Given the description of an element on the screen output the (x, y) to click on. 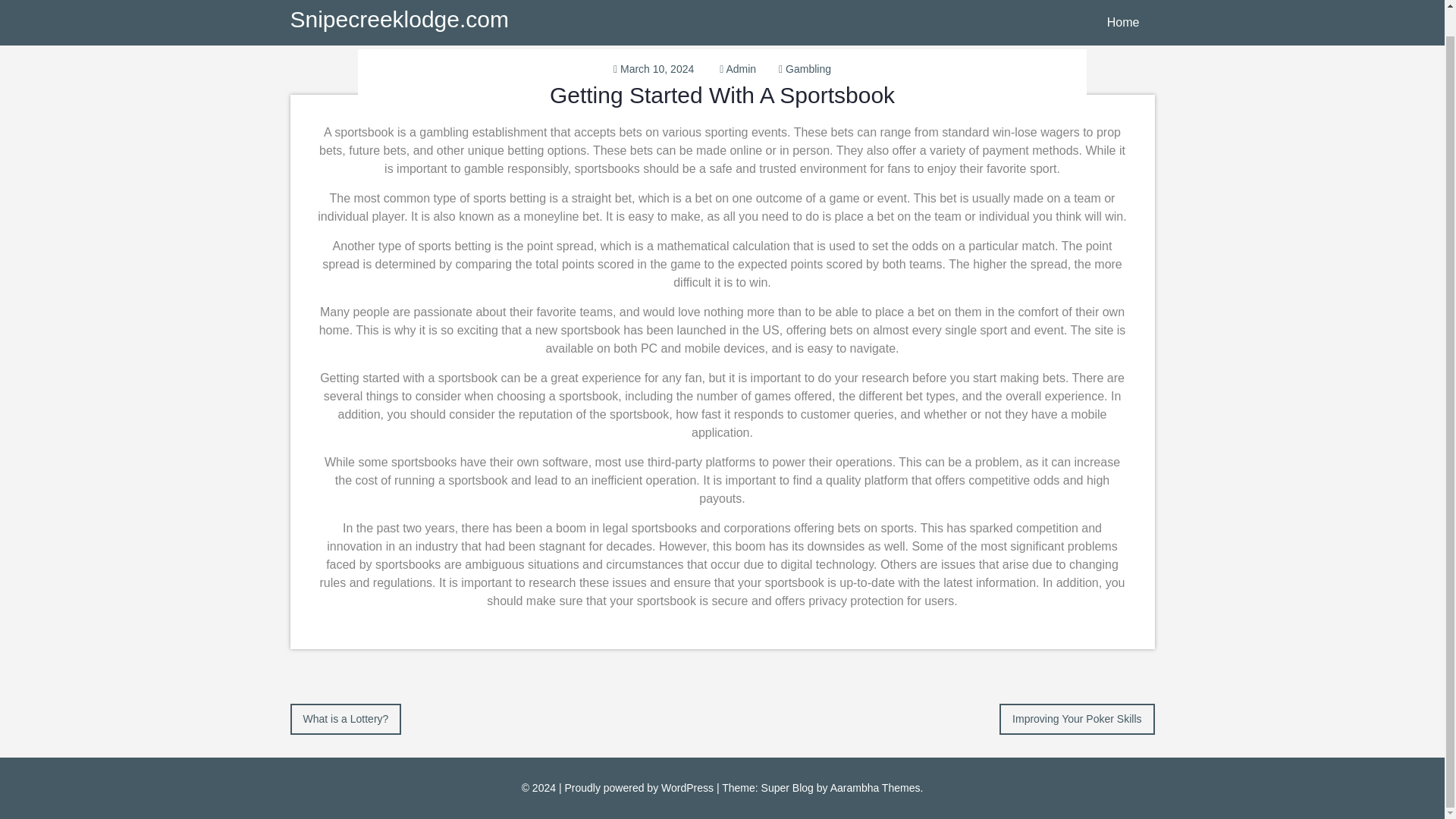
March 10, 2024 (657, 69)
Home (1123, 9)
Gambling (808, 69)
WordPress (687, 787)
What is a Lottery? (345, 717)
Improving Your Poker Skills (1076, 717)
Snipecreeklodge.com (398, 2)
Admin (740, 69)
Aarambha Themes (874, 787)
